Given the description of an element on the screen output the (x, y) to click on. 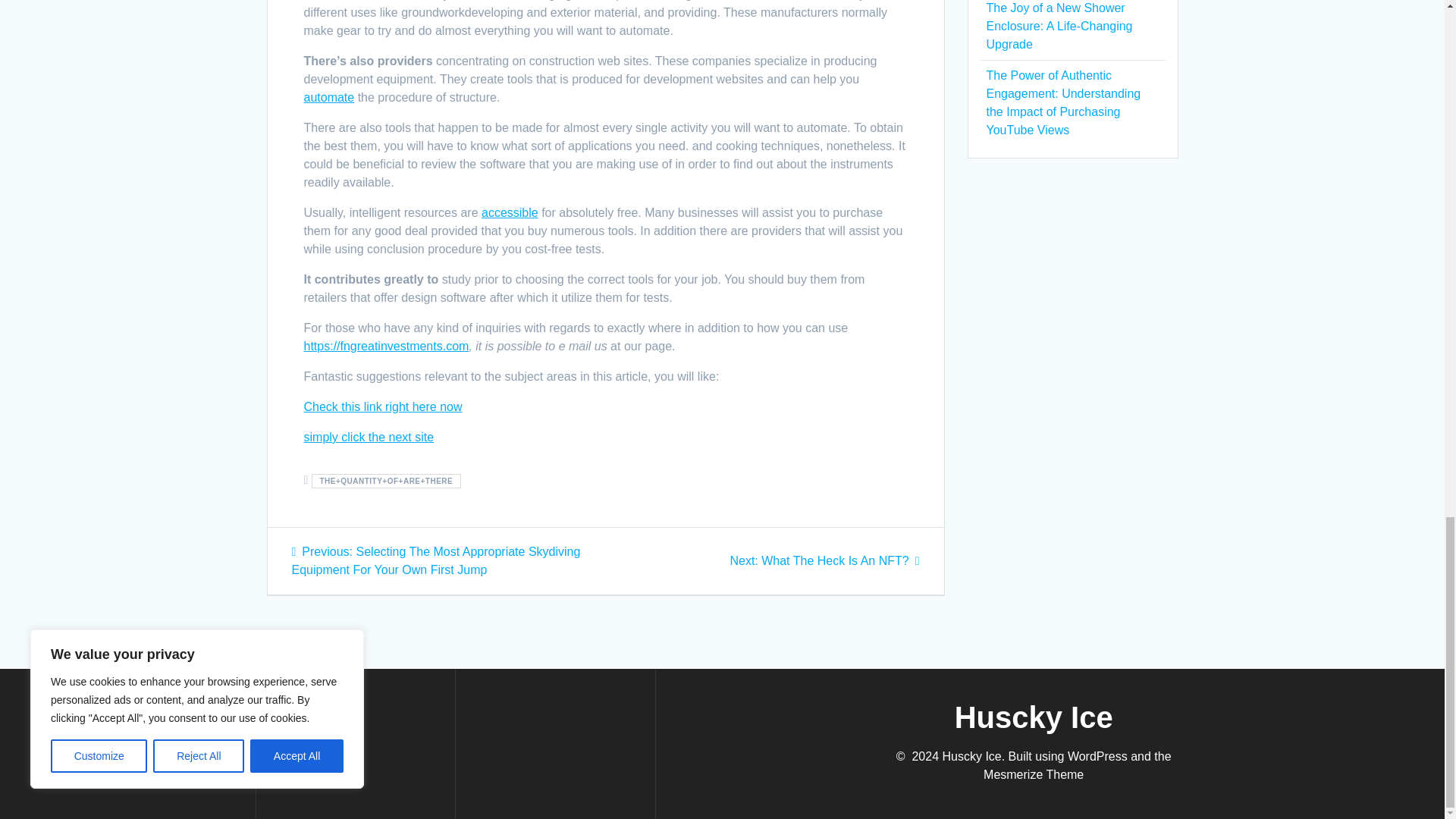
automate (327, 97)
accessible (509, 212)
Check this link right here now (381, 406)
simply click the next site (367, 436)
